Given the description of an element on the screen output the (x, y) to click on. 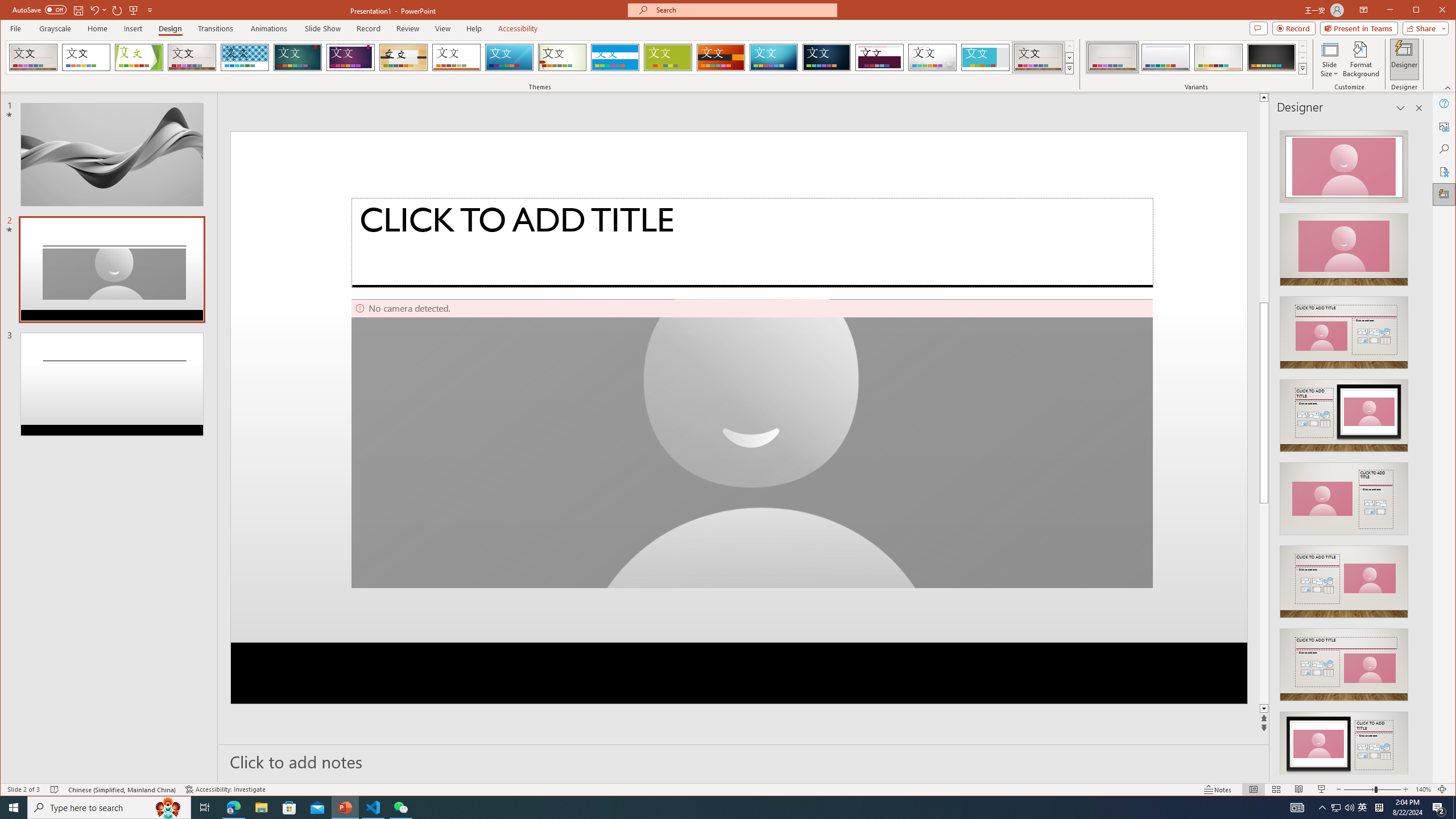
Gallery Variant 2 (1165, 57)
Line down (1263, 709)
